Given the description of an element on the screen output the (x, y) to click on. 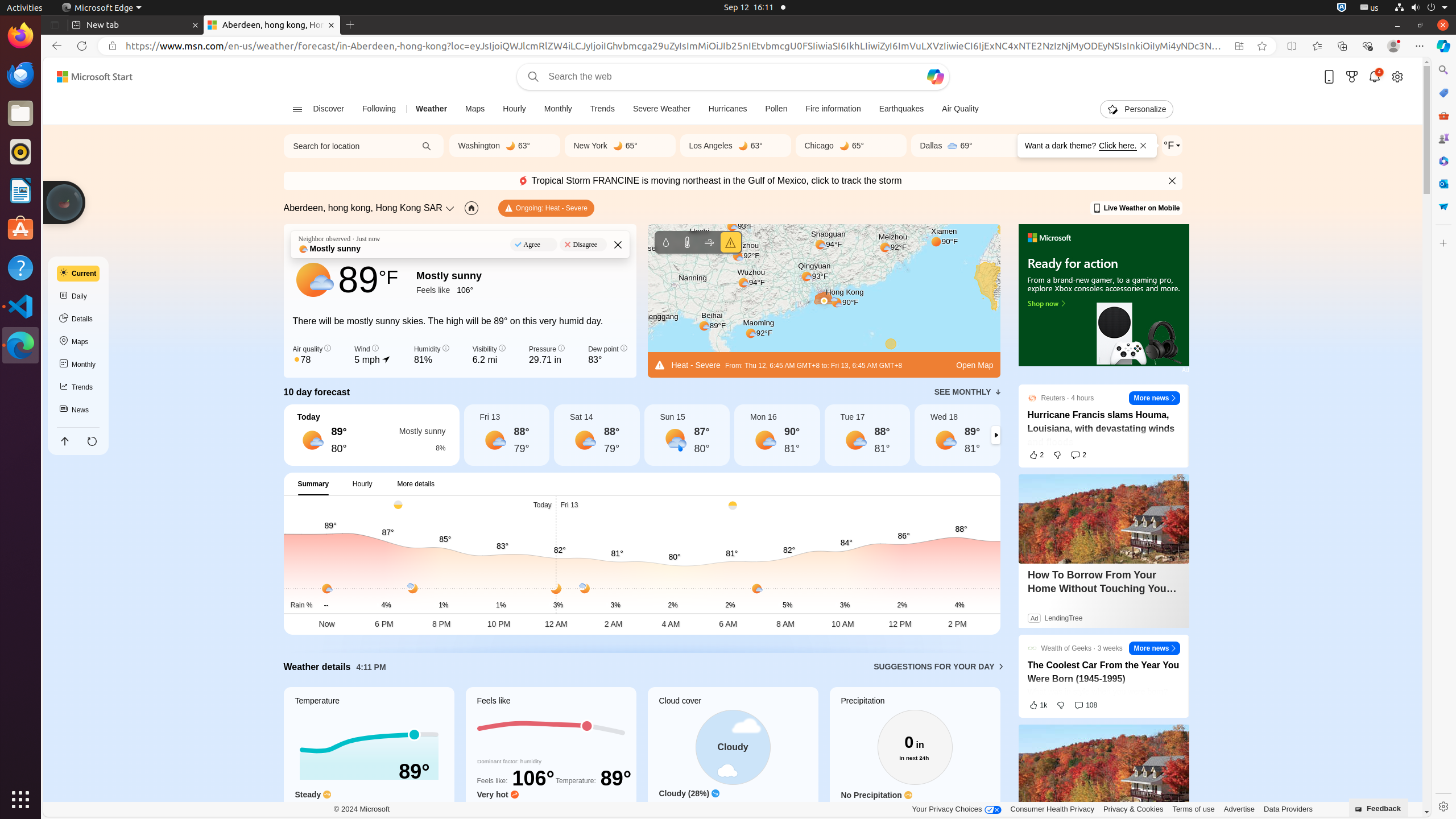
Skip to footer Element type: push-button (87, 76)
Pressure 29.71 in Element type: link (546, 355)
LendingTree Element type: link (1062, 618)
Advertise Element type: link (1239, 808)
Chicago Element type: push-button (818, 145)
